Given the description of an element on the screen output the (x, y) to click on. 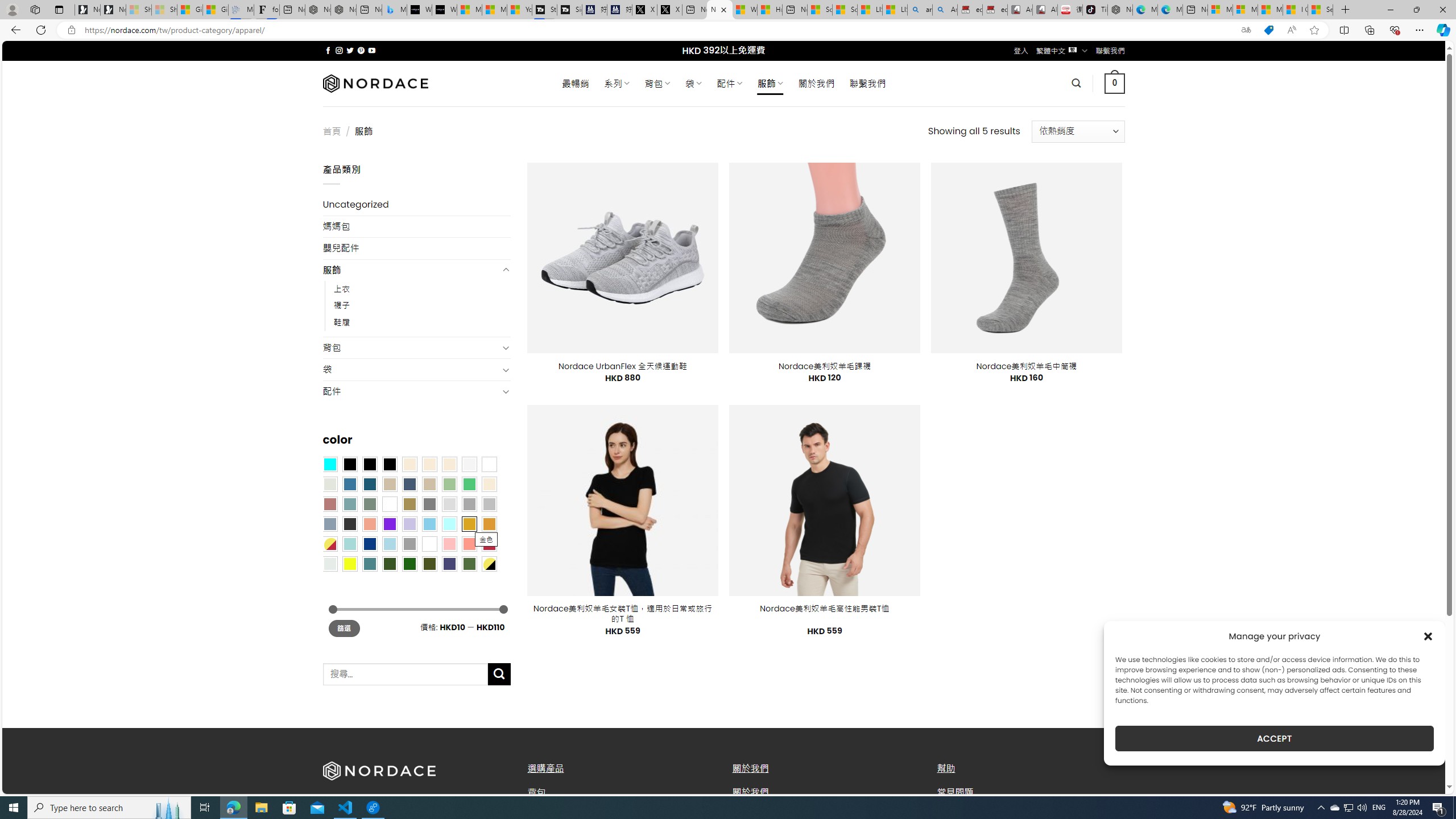
Follow on Instagram (338, 50)
